Given the description of an element on the screen output the (x, y) to click on. 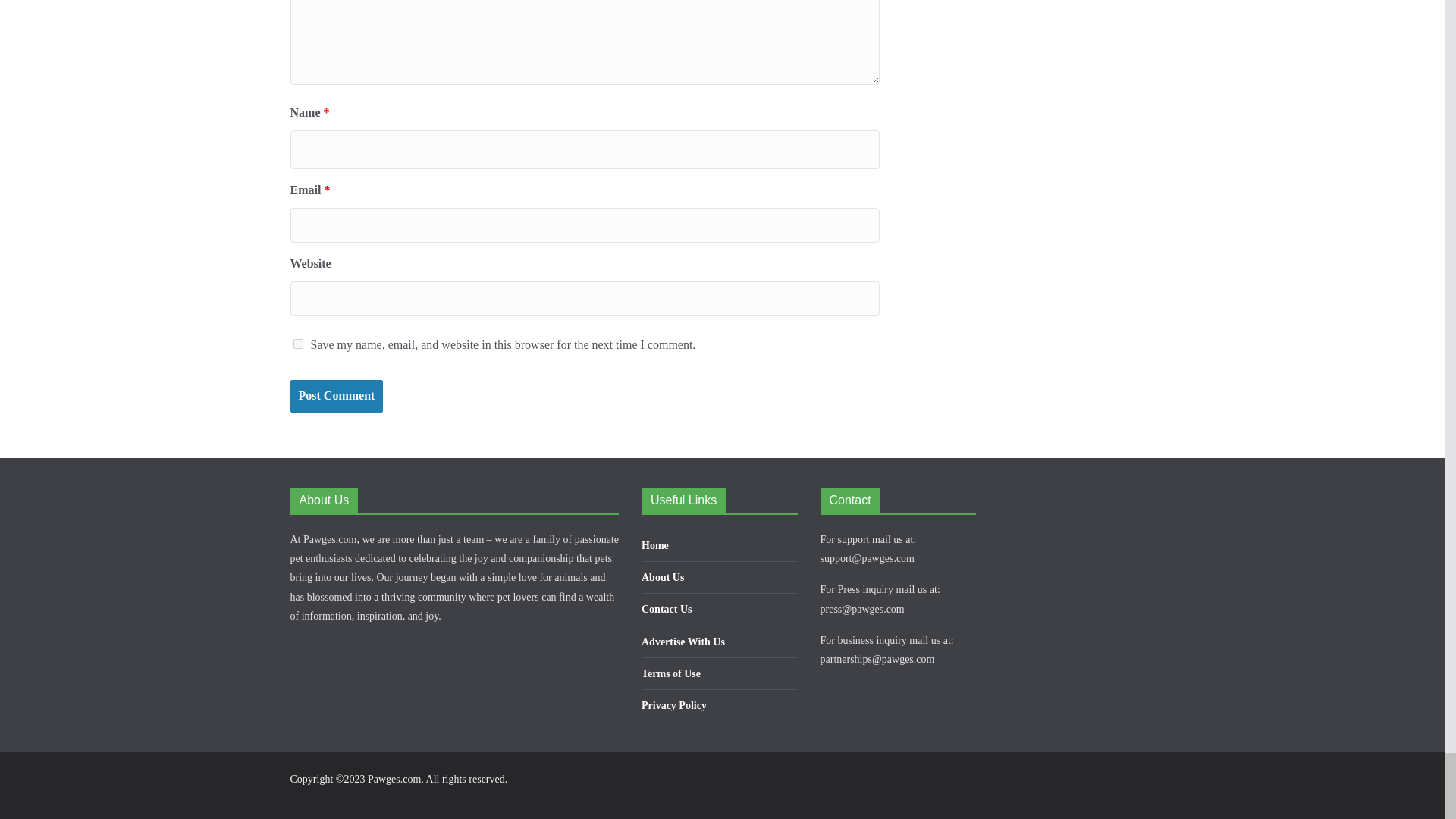
yes (297, 343)
Post Comment (335, 396)
